Given the description of an element on the screen output the (x, y) to click on. 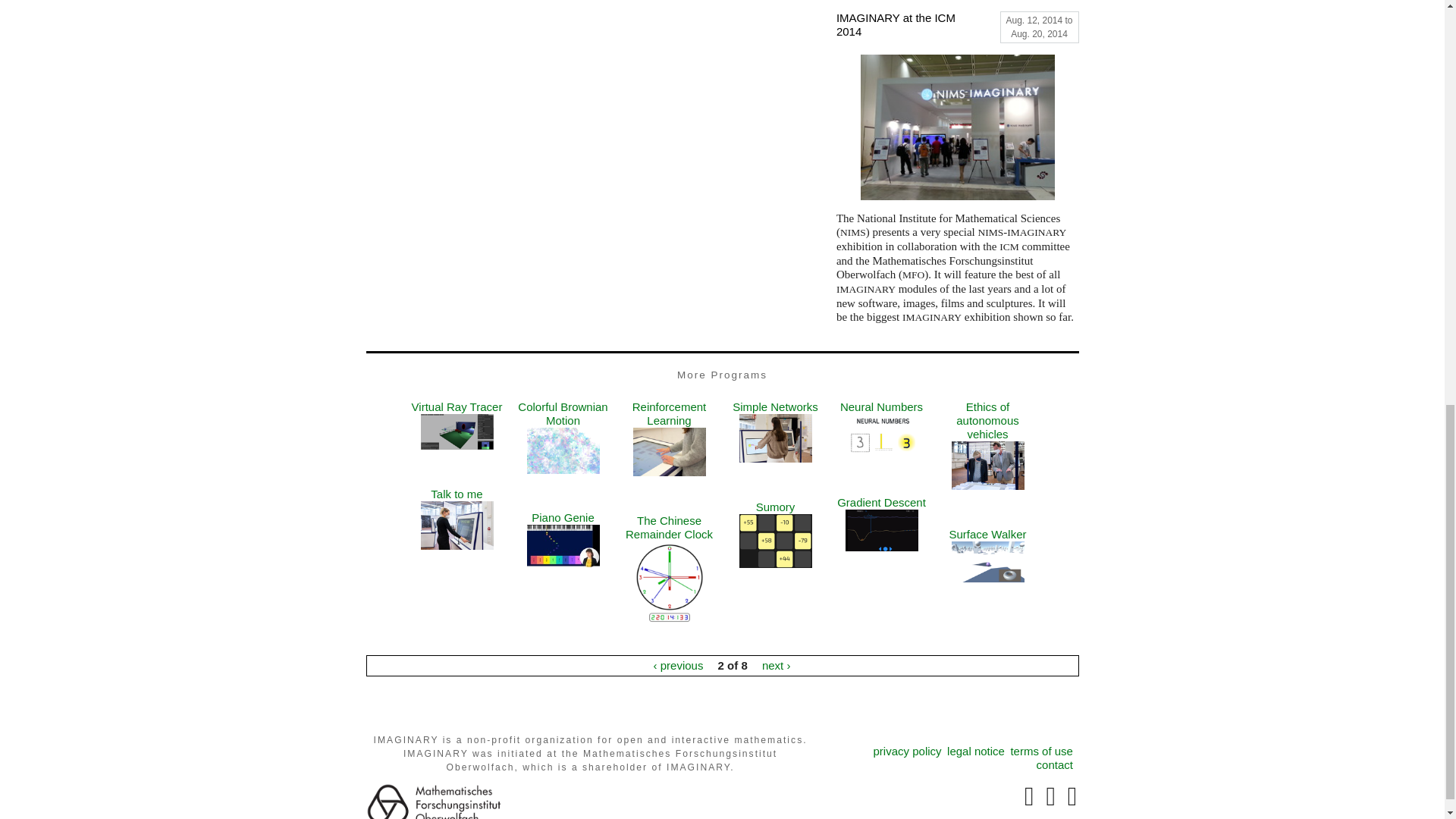
IMAGINARY at the ICM 2014 (903, 28)
